Given the description of an element on the screen output the (x, y) to click on. 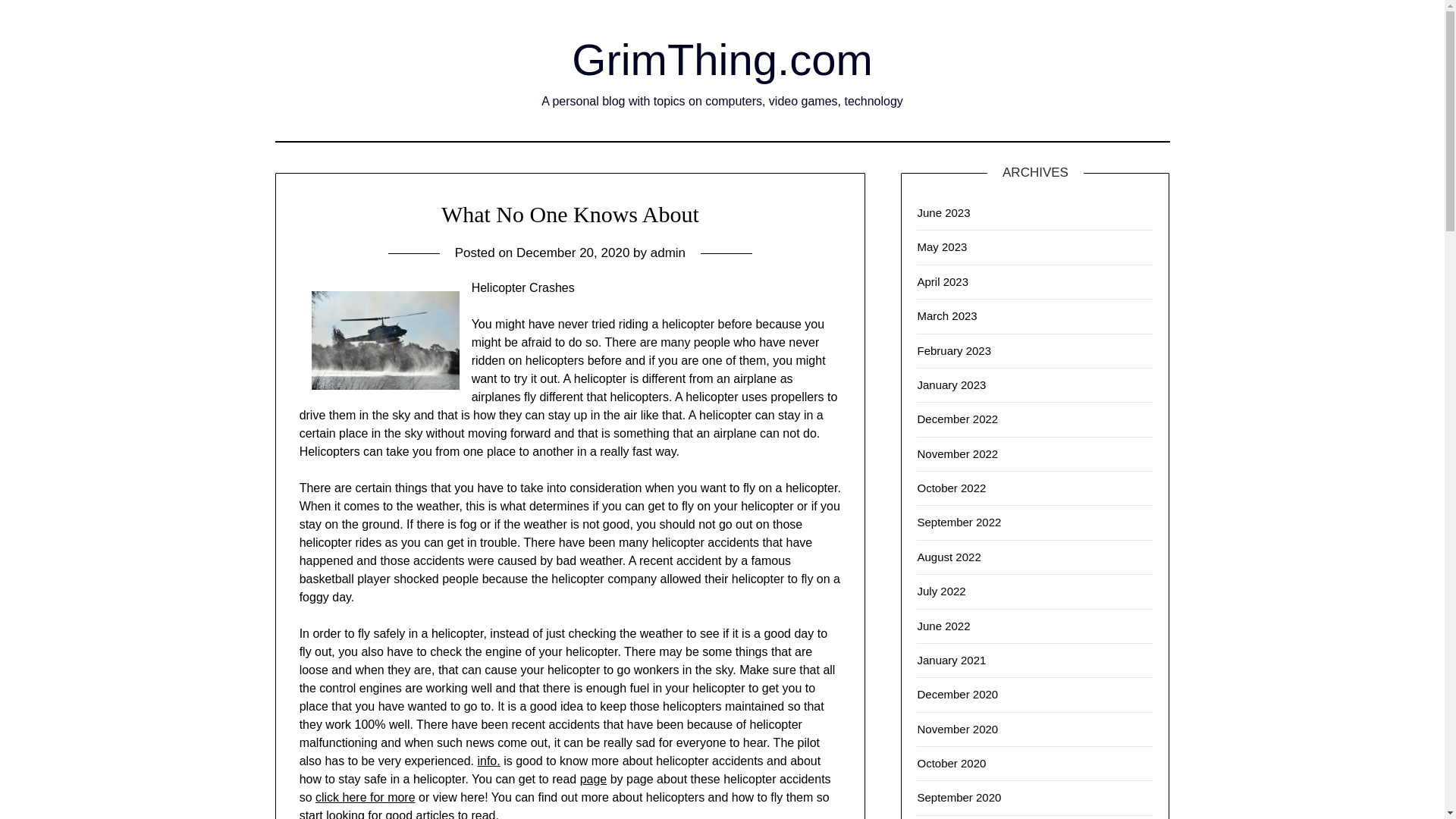
click here for more (364, 797)
GrimThing.com (722, 59)
June 2023 (943, 212)
May 2023 (941, 246)
page (593, 779)
December 2020 (957, 694)
April 2023 (942, 281)
December 20, 2020 (572, 252)
January 2023 (951, 384)
November 2020 (957, 728)
